Given the description of an element on the screen output the (x, y) to click on. 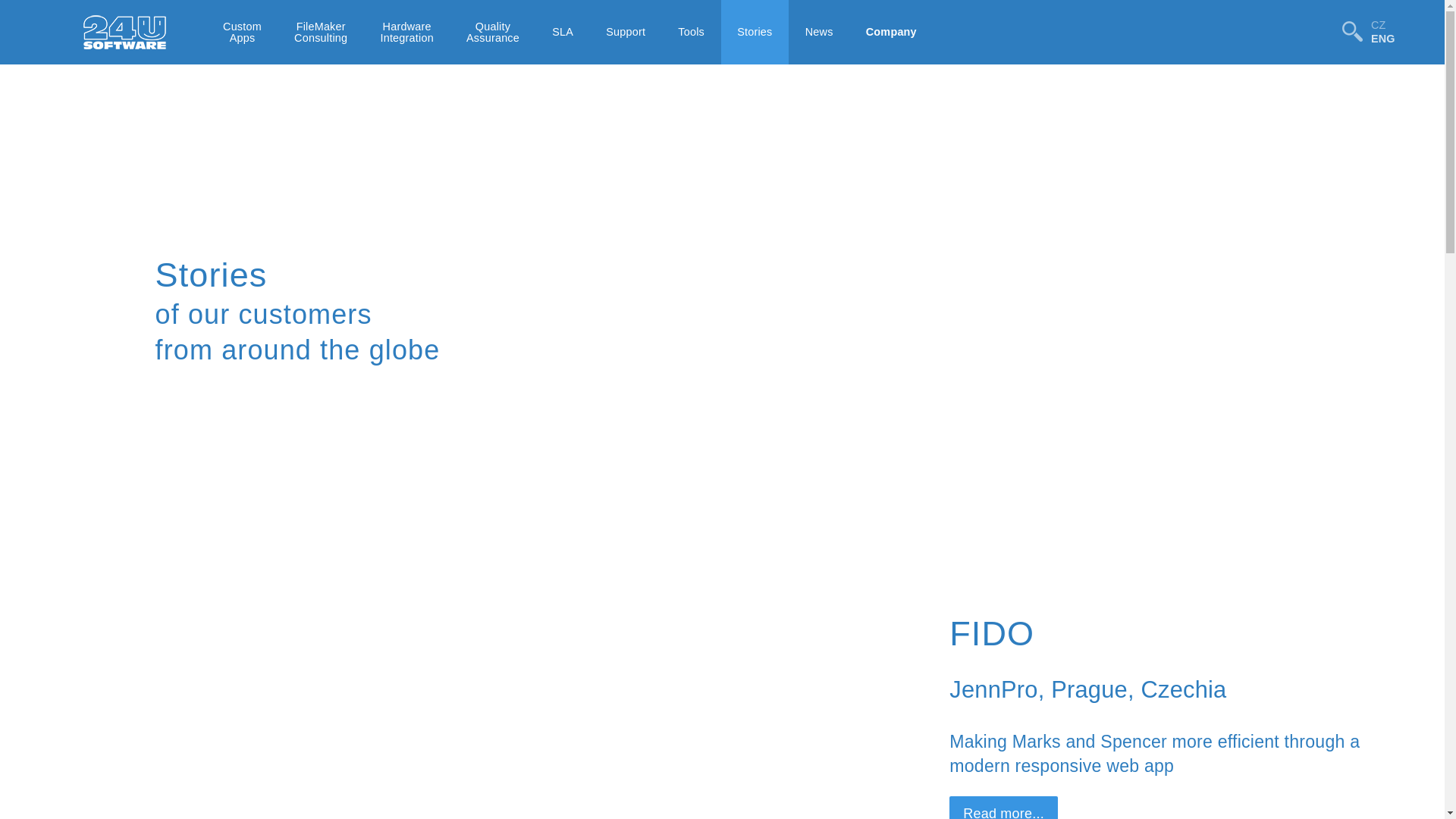
Custom
Apps Element type: text (241, 32)
Hardware
Integration Element type: text (407, 32)
FileMaker
Consulting Element type: text (321, 32)
Stories Element type: text (755, 32)
CZ Element type: text (1383, 24)
SLA Element type: text (562, 32)
News Element type: text (818, 32)
Support Element type: text (625, 32)
Quality
Assurance Element type: text (492, 32)
Company Element type: text (890, 32)
Tools Element type: text (691, 32)
ENG Element type: text (1383, 39)
